Given the description of an element on the screen output the (x, y) to click on. 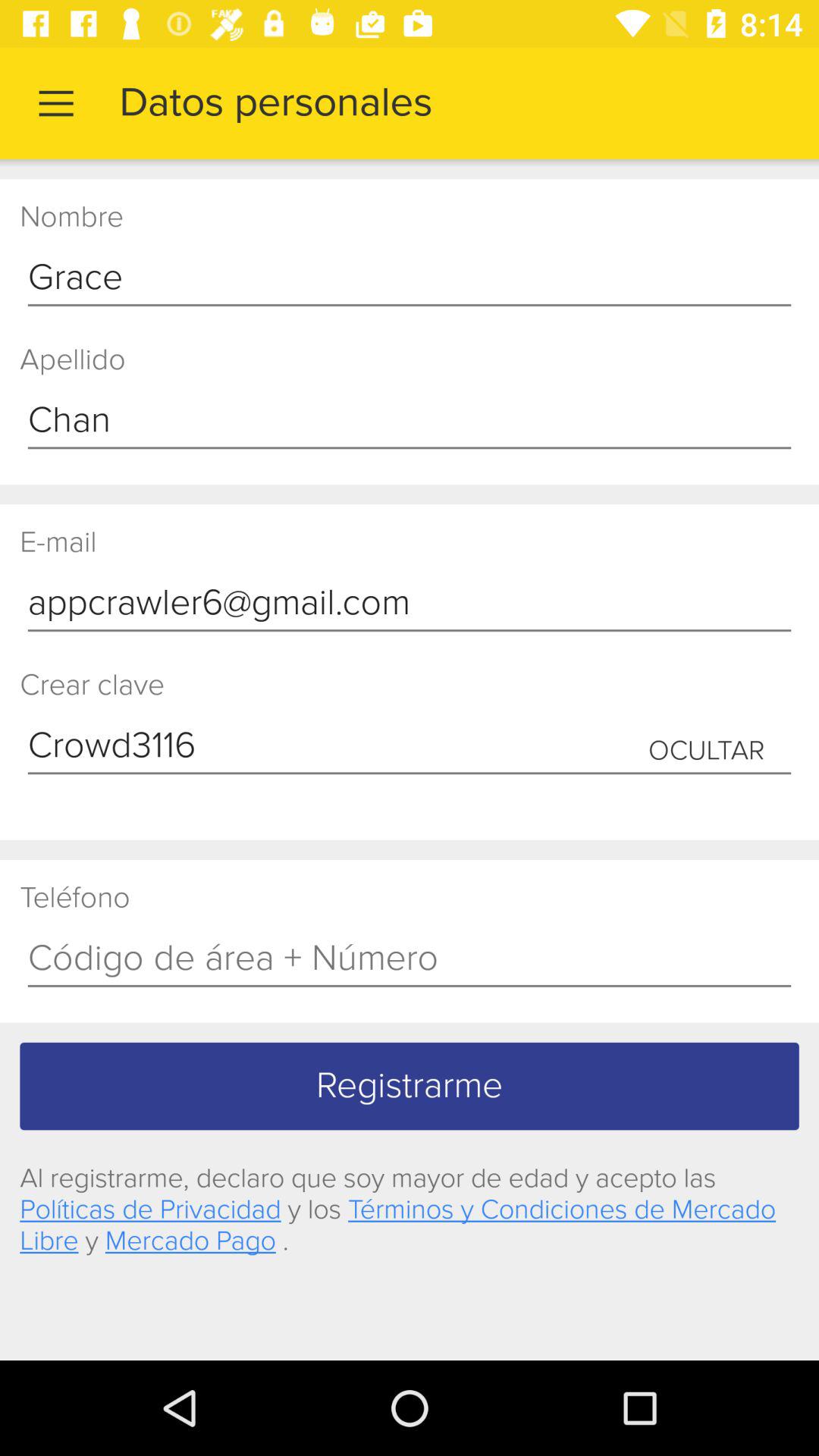
enter your telephone number (409, 959)
